Given the description of an element on the screen output the (x, y) to click on. 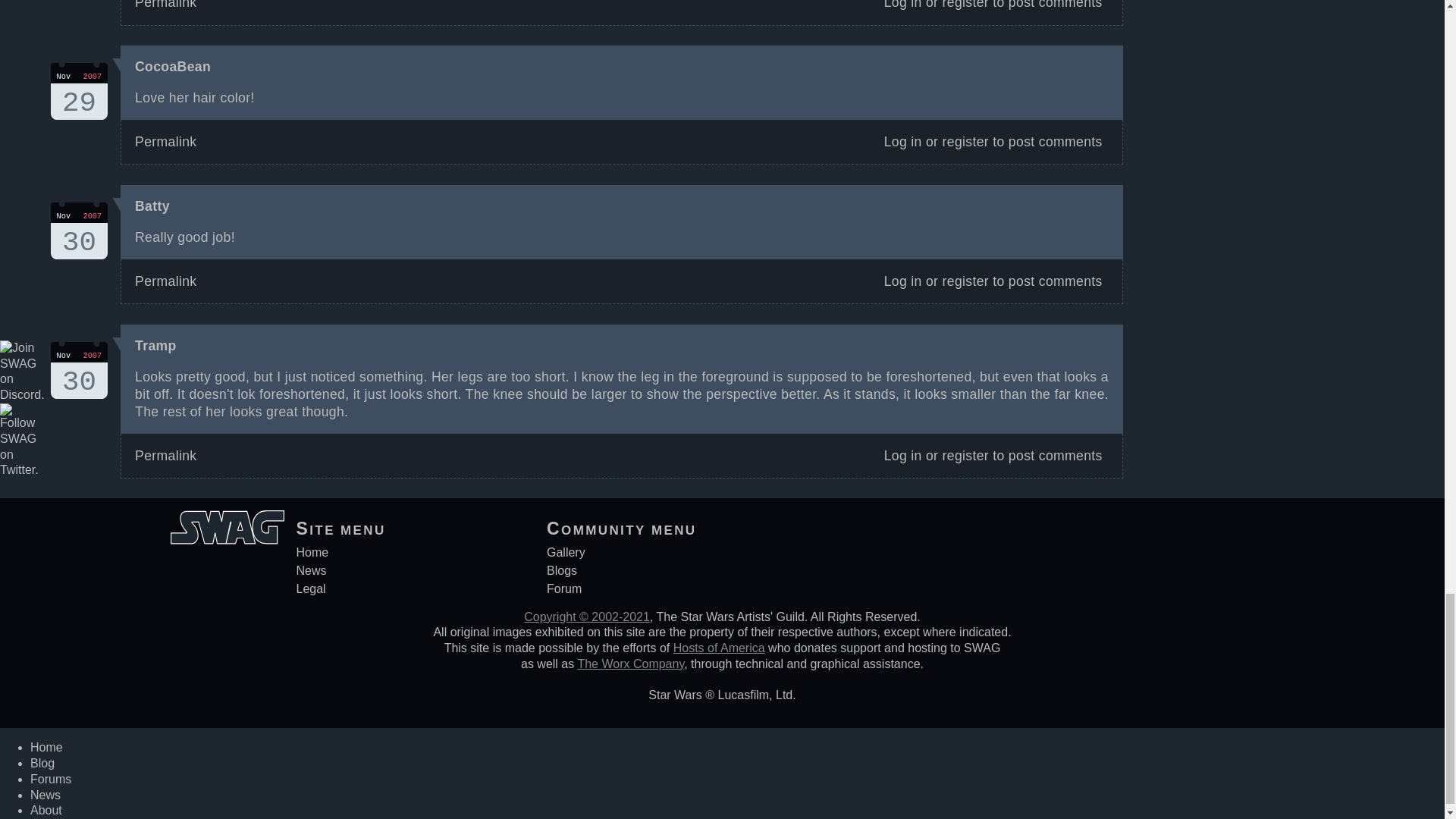
Log in (902, 141)
Permalink (165, 4)
View user profile. (155, 345)
Permalink (165, 141)
CocoaBean (173, 66)
View user profile. (78, 370)
Log in (152, 206)
register (902, 4)
register (965, 141)
Permalink (965, 4)
View user profile. (165, 281)
